Given the description of an element on the screen output the (x, y) to click on. 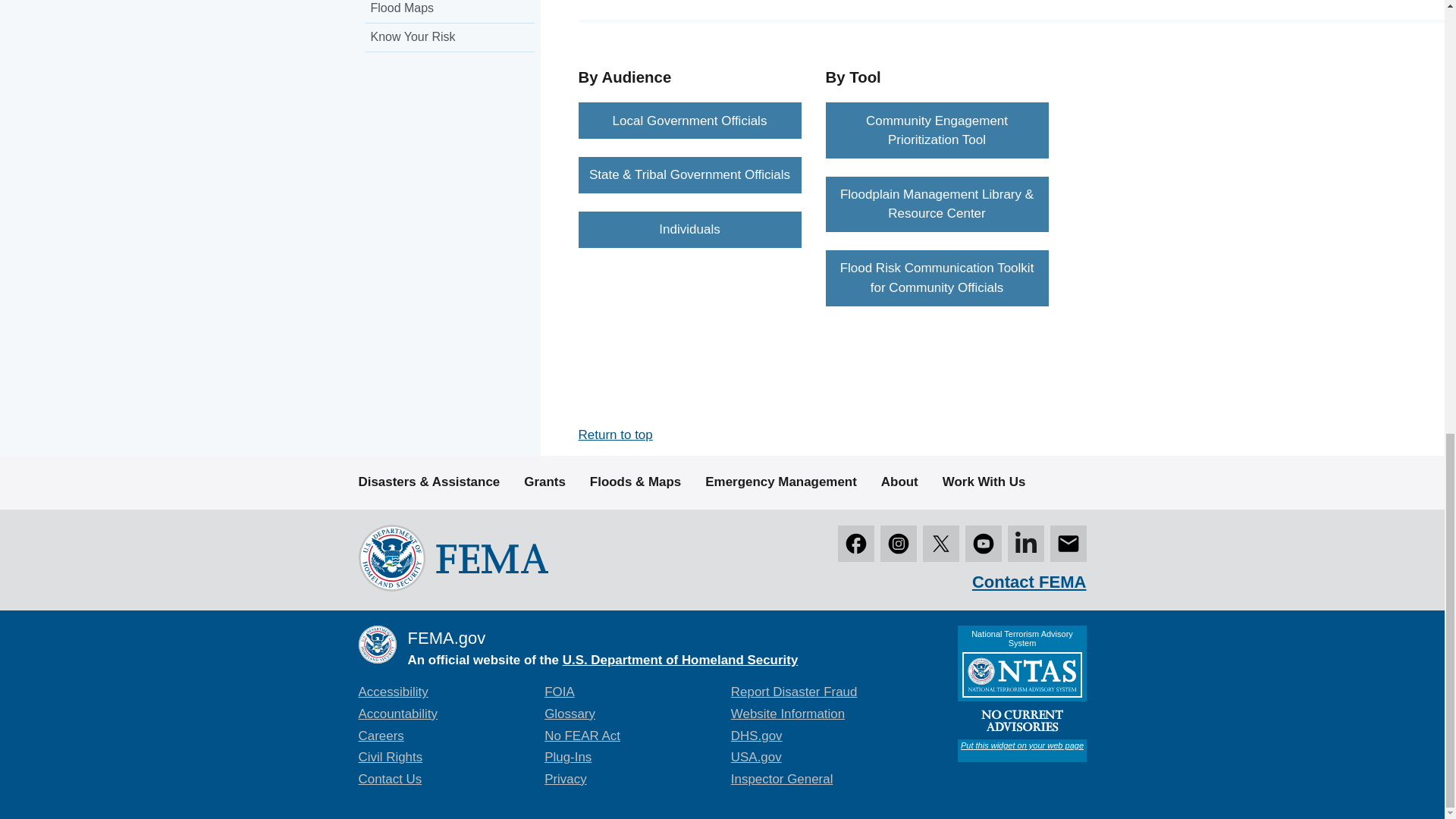
National Terrorism Advisory System (1021, 693)
Flood Maps (449, 11)
Know Your Risk (449, 37)
FEMA logo (452, 557)
